Given the description of an element on the screen output the (x, y) to click on. 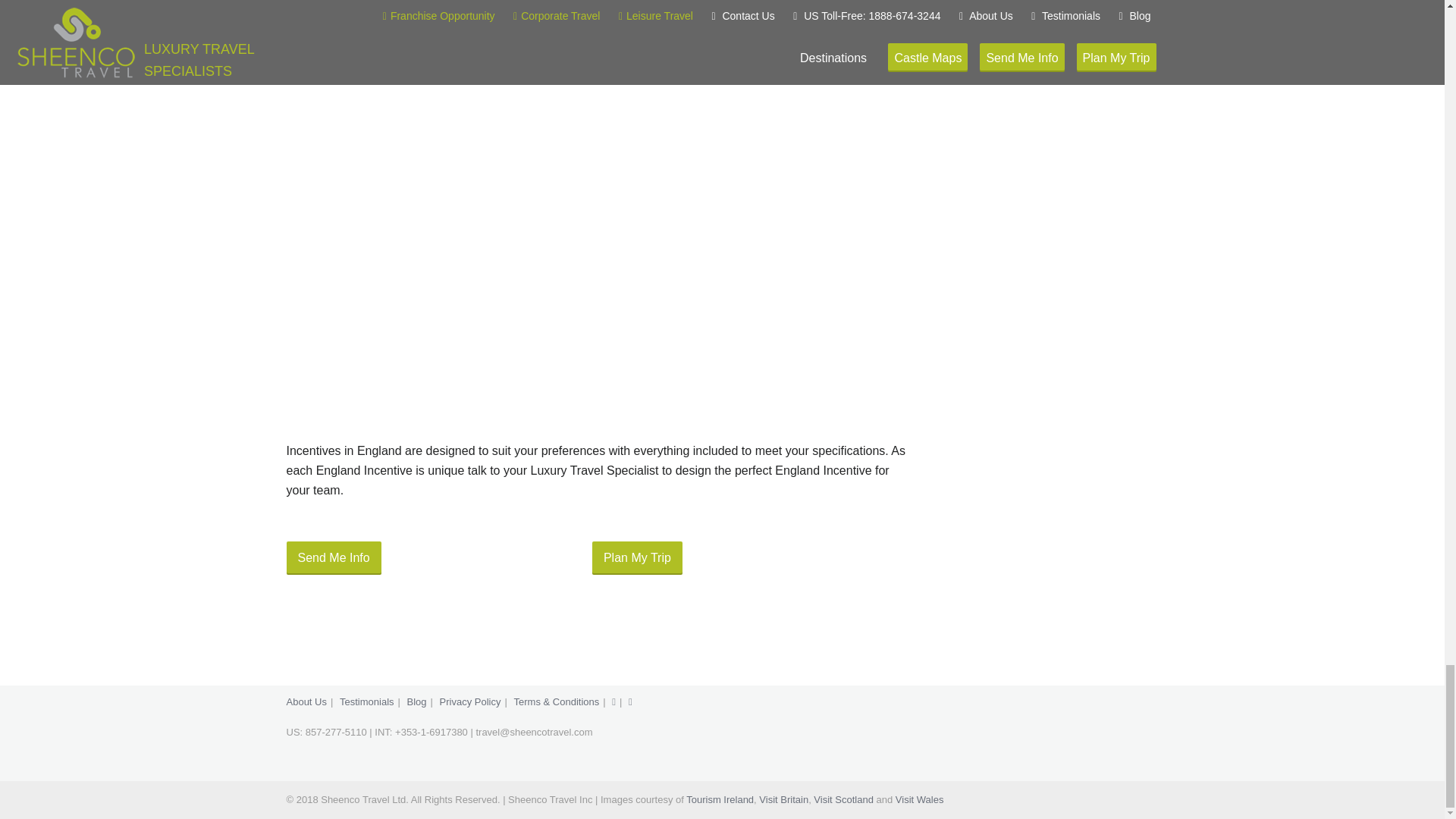
About Us (306, 701)
Send Me Info (333, 557)
Plan My Trip (637, 557)
